Given the description of an element on the screen output the (x, y) to click on. 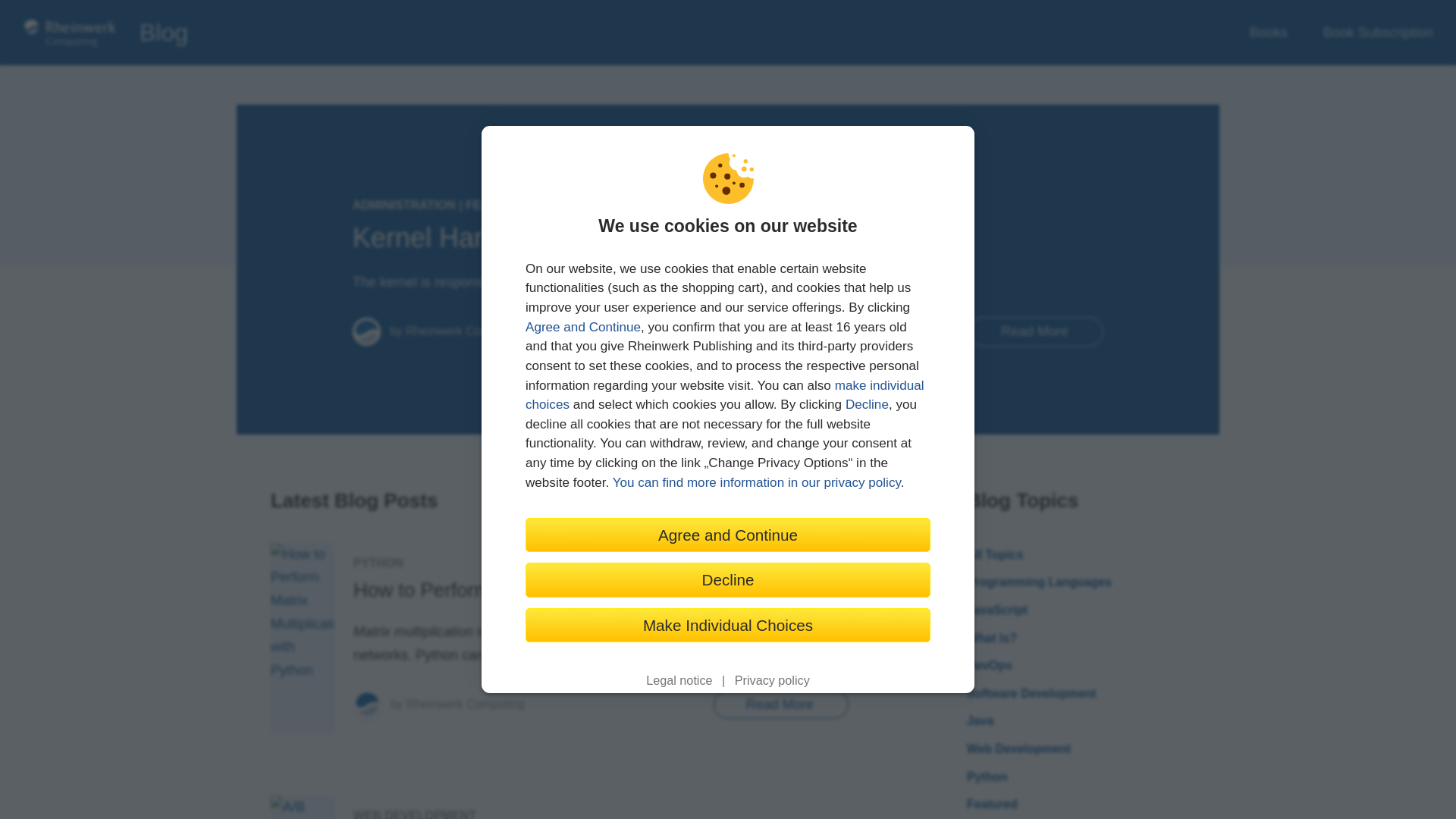
Rheinwerk Computing (465, 703)
WEB DEVELOPMENT (414, 814)
Decline (727, 579)
Book Subscription (1377, 33)
Rheinwerk Computing (465, 330)
Blog (163, 32)
Read More (1035, 331)
PYTHON (378, 562)
Books (1268, 33)
How to Perform Matrix Multiplication with Python (565, 589)
